Given the description of an element on the screen output the (x, y) to click on. 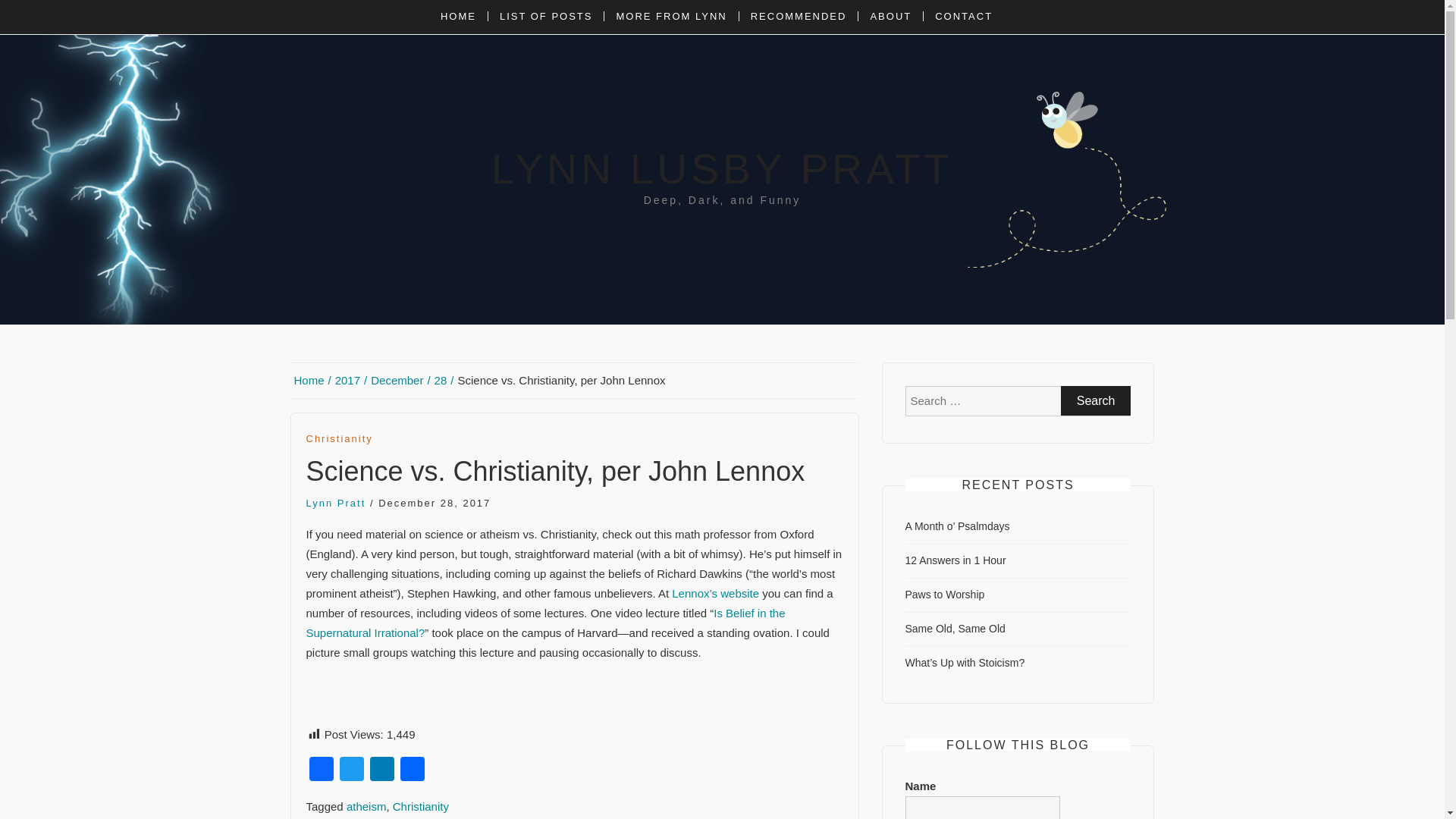
Paws to Worship (945, 594)
Twitter (351, 770)
28 (443, 380)
LIST OF POSTS (545, 16)
Share (412, 770)
Christianity (420, 806)
MORE FROM LYNN (671, 16)
Search (1096, 400)
Search (1096, 400)
Lynn Pratt (335, 502)
ABOUT (890, 16)
LinkedIn (381, 770)
LinkedIn (381, 770)
LYNN LUSBY PRATT (722, 168)
Same Old, Same Old (955, 628)
